Given the description of an element on the screen output the (x, y) to click on. 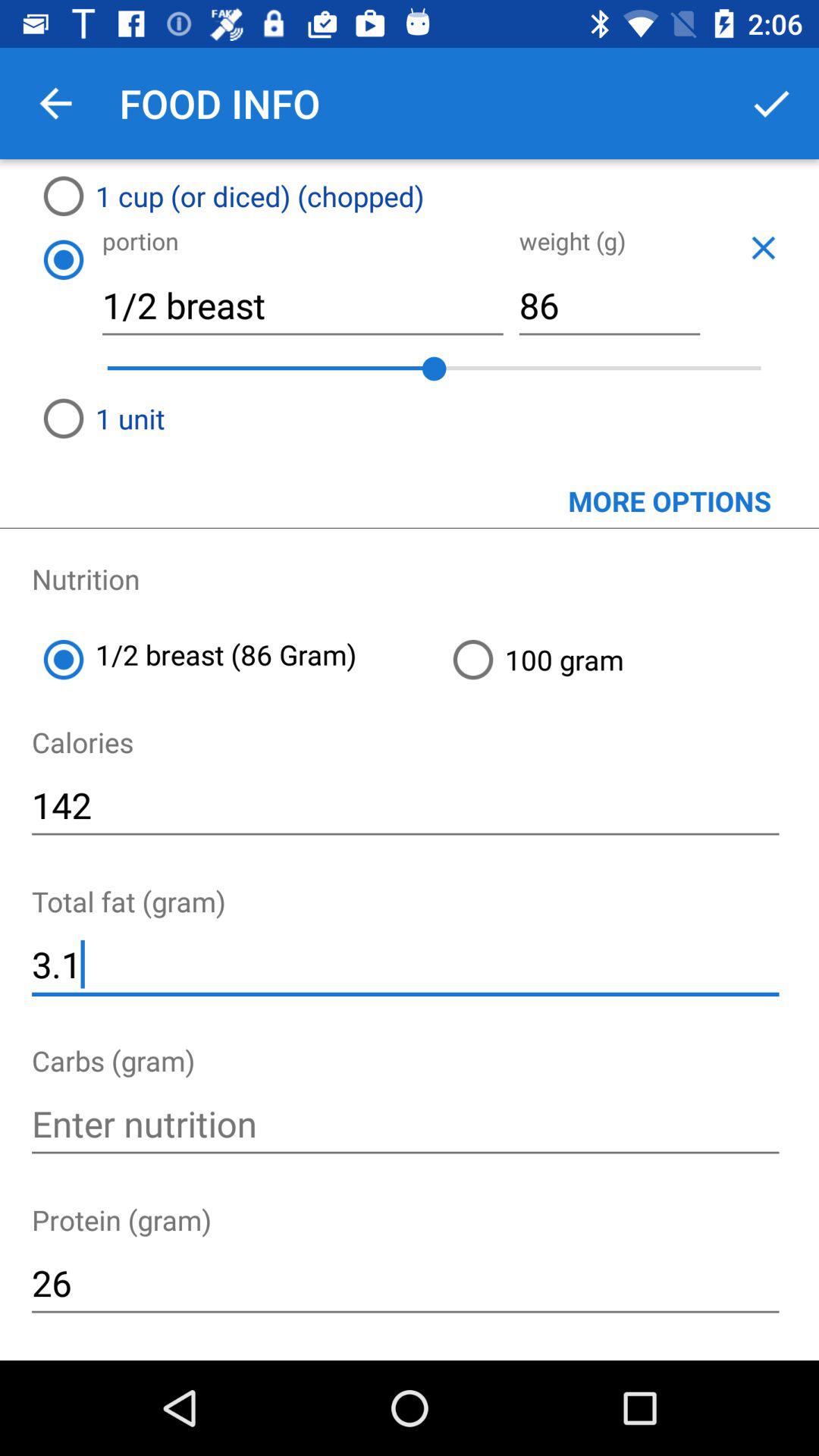
turn on the icon below 1 cup or icon (62, 259)
